Given the description of an element on the screen output the (x, y) to click on. 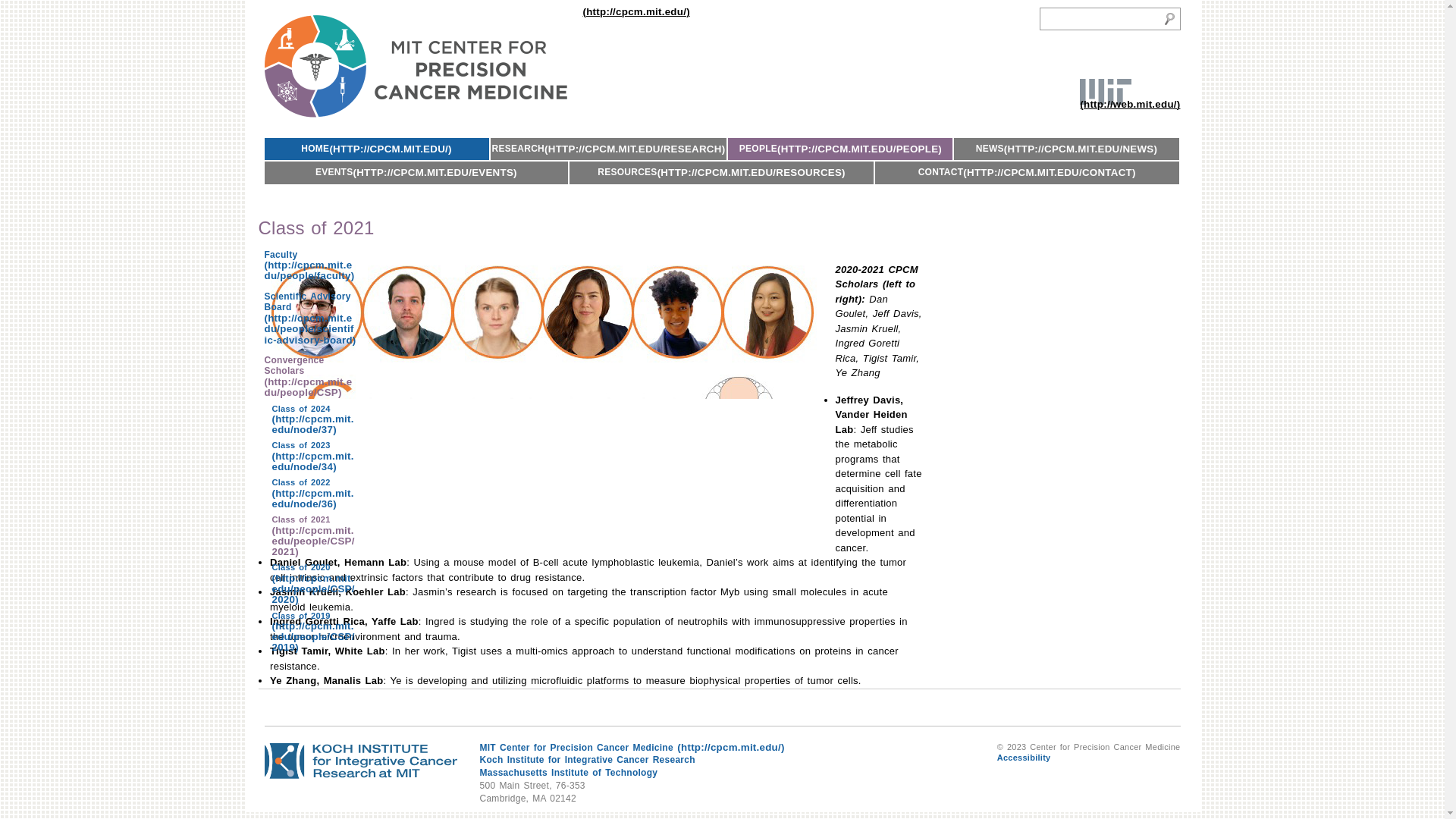
MIT home (1129, 91)
CPCM home (475, 68)
go (1168, 18)
PEOPLE (840, 148)
HOME (375, 148)
Scientific Advisory Board (309, 318)
Class of 2020 (309, 583)
Enter the terms you wish to search for. (1097, 19)
CONTACT (1027, 172)
Class of 2022 (309, 492)
RESEARCH (608, 148)
Koch Institute home (586, 759)
RESOURCES (721, 172)
Class of 2021 (309, 535)
